Given the description of an element on the screen output the (x, y) to click on. 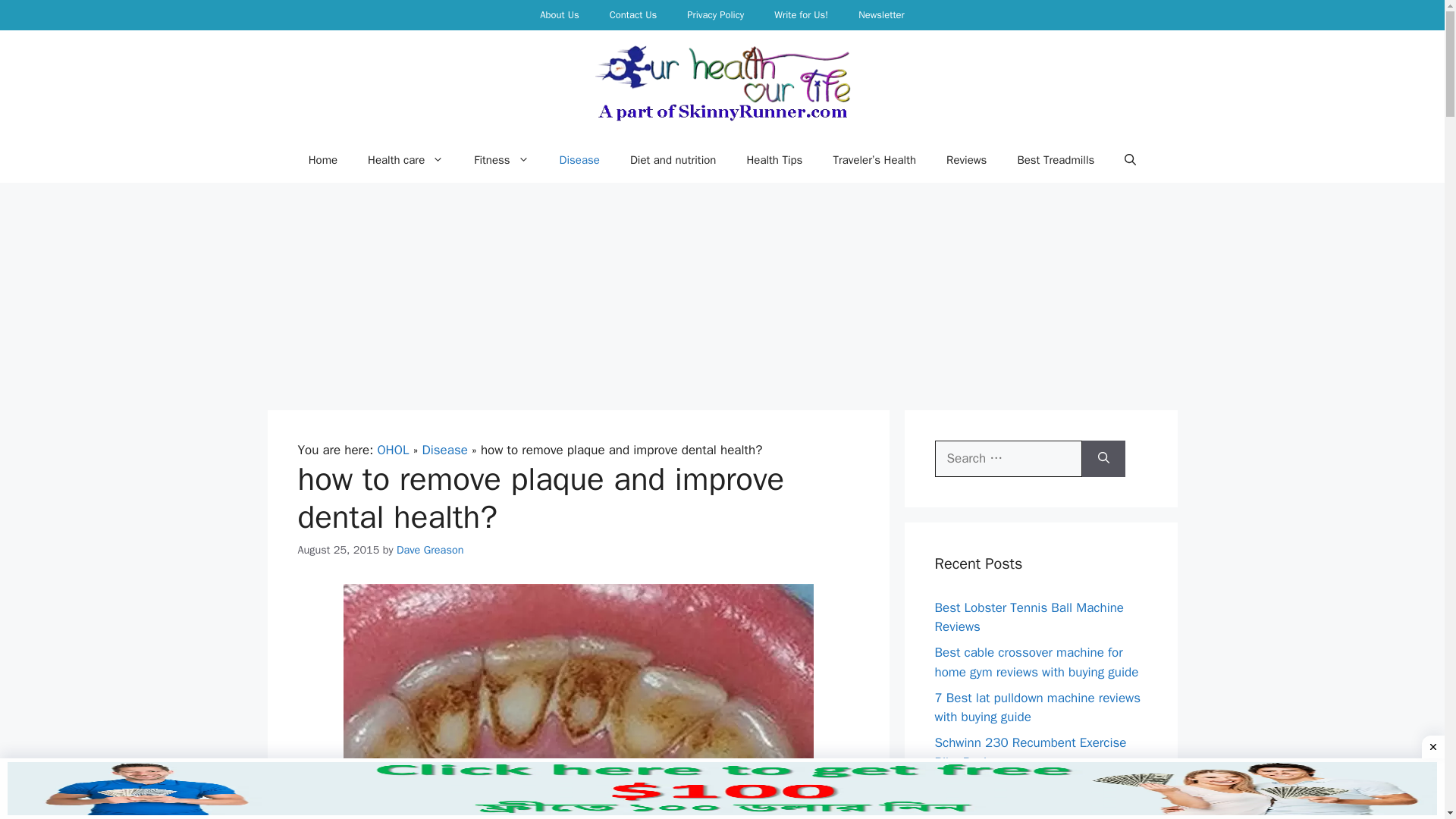
Are You Want To Write For Us? (800, 15)
About Us (559, 15)
Diet and nutrition (673, 159)
Health care (405, 159)
Fitness (500, 159)
Home (323, 159)
Dave Greason (430, 549)
Contact Us (633, 15)
Know Our Privacy Policy (714, 15)
Health care (405, 159)
Contact With Us (633, 15)
Best Treadmills (1055, 159)
Disease (579, 159)
OHOL (393, 449)
Fitness (500, 159)
